Given the description of an element on the screen output the (x, y) to click on. 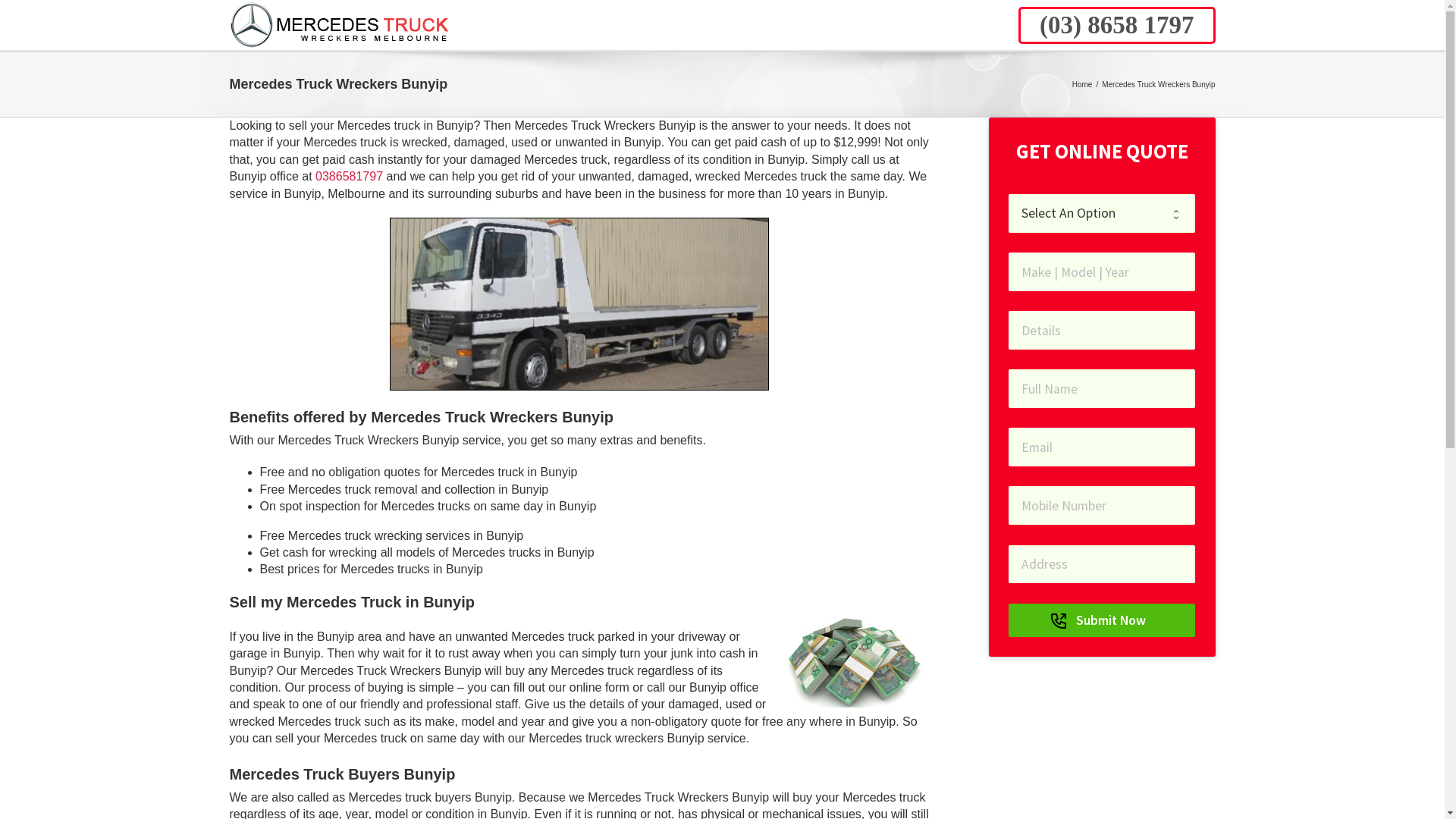
0386581797 Element type: text (348, 175)
mercedes truck wreckers Bunyip Element type: hover (578, 303)
Home Element type: text (1082, 84)
(03) 8658 1797 Element type: text (1116, 24)
Cash for Mercedes Truck Wreckers Bunyip Element type: hover (853, 662)
Submit Now Element type: text (1101, 620)
